Given the description of an element on the screen output the (x, y) to click on. 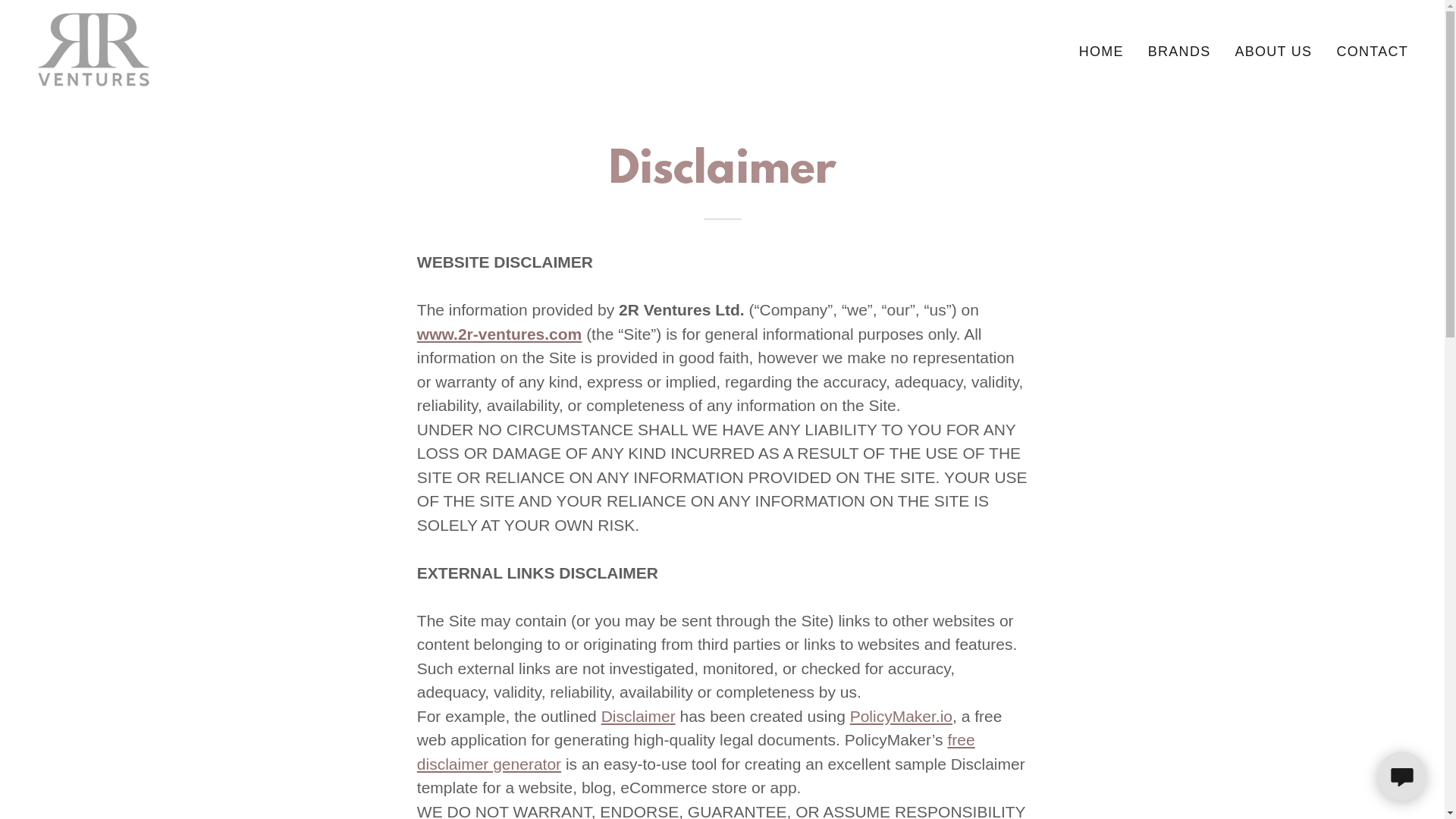
ABOUT US Element type: text (1273, 51)
Disclaimer Element type: text (638, 715)
free disclaimer generator Element type: text (696, 751)
HOME Element type: text (1101, 51)
www.2r-ventures.com Element type: text (499, 333)
BRANDS Element type: text (1179, 51)
CONTACT Element type: text (1371, 51)
PolicyMaker.io Element type: text (901, 715)
